Given the description of an element on the screen output the (x, y) to click on. 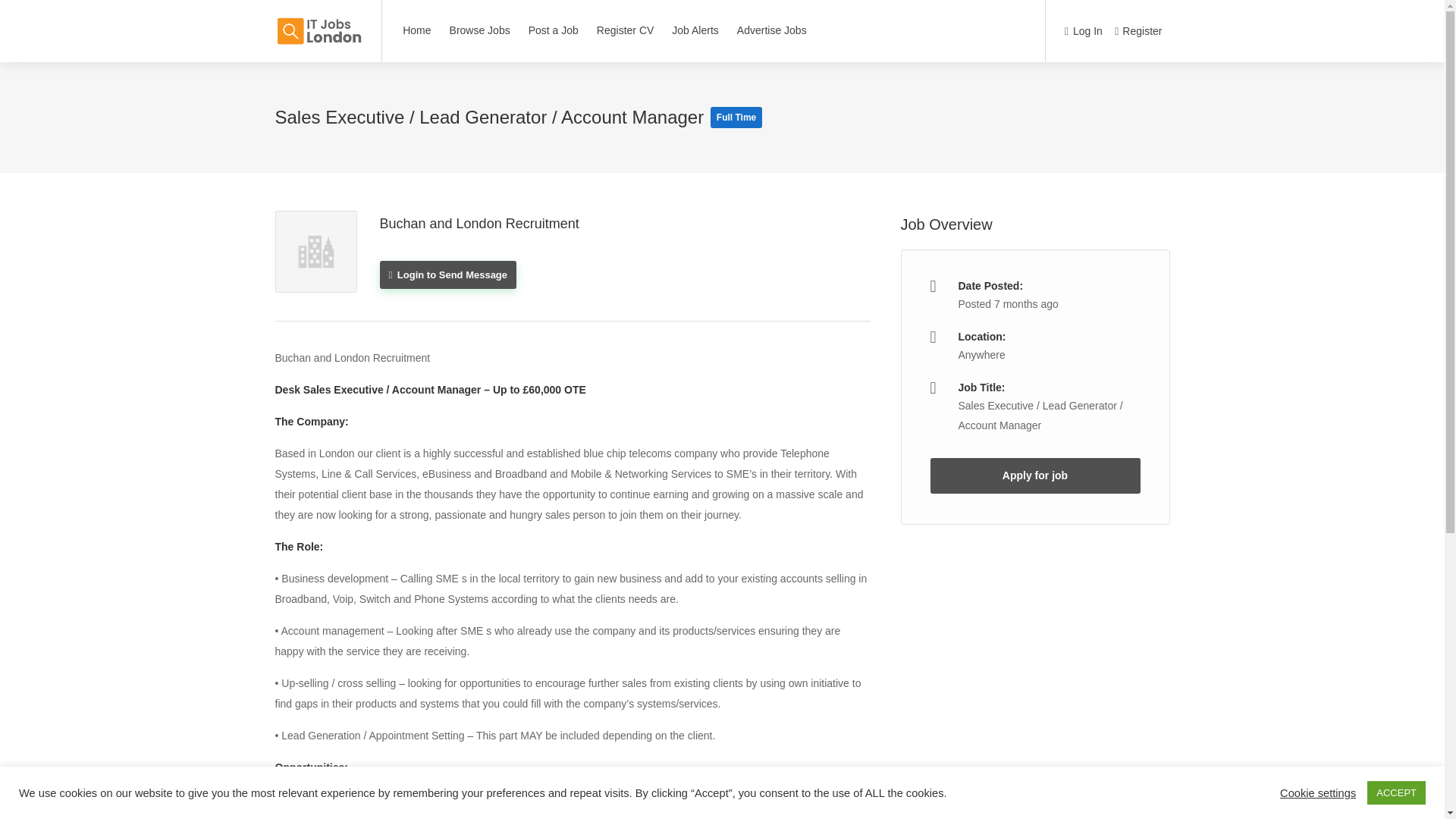
Advertise Jobs (772, 30)
Login to Send Message (447, 275)
ACCEPT (1396, 792)
IT Jobs London (318, 22)
Browse Jobs (479, 30)
Apply for job (1035, 475)
Job Alerts (694, 30)
Home (416, 30)
Post a Job (552, 30)
Log In (1083, 31)
